Given the description of an element on the screen output the (x, y) to click on. 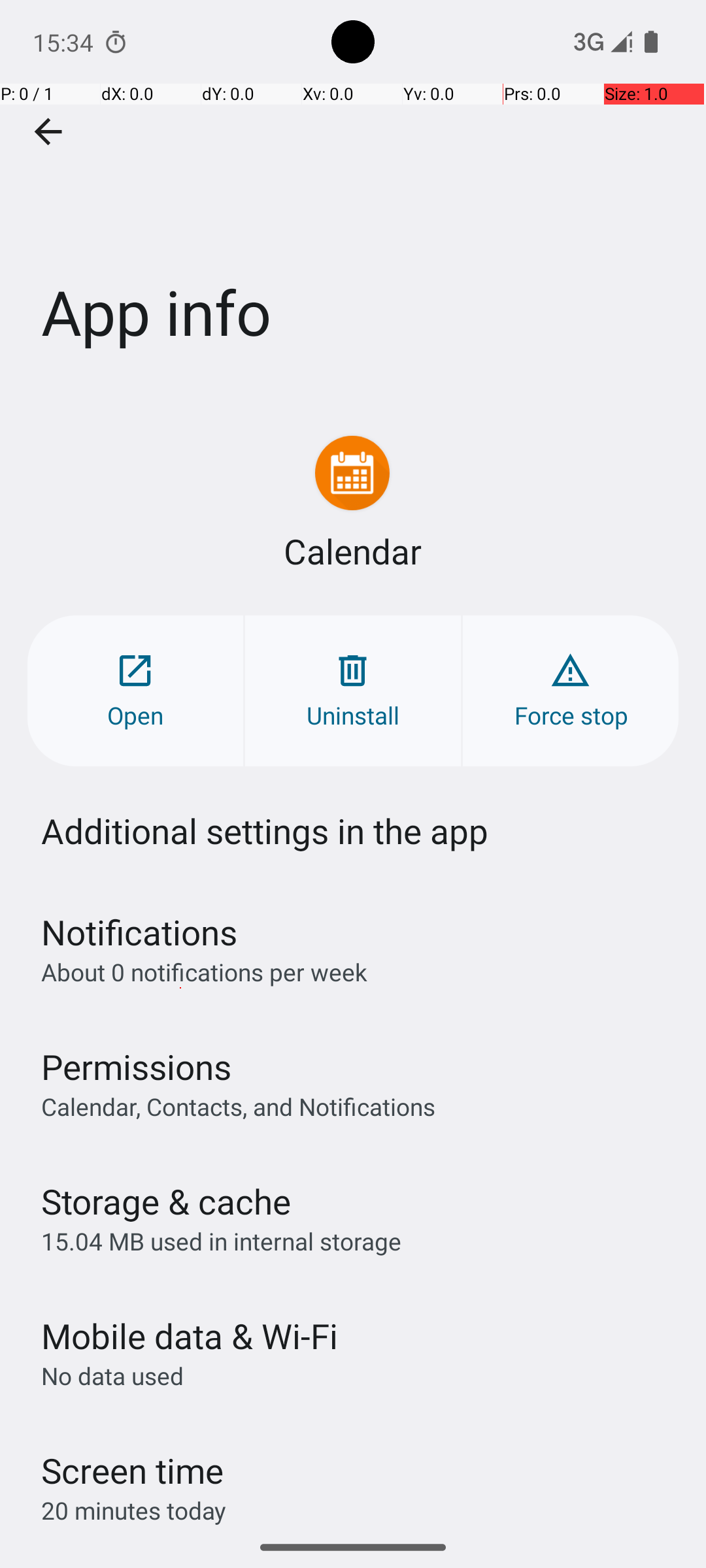
Additional settings in the app Element type: android.widget.TextView (264, 830)
Calendar, Contacts, and Notifications Element type: android.widget.TextView (238, 1106)
15.04 MB used in internal storage Element type: android.widget.TextView (221, 1240)
20 minutes today Element type: android.widget.TextView (133, 1509)
